Given the description of an element on the screen output the (x, y) to click on. 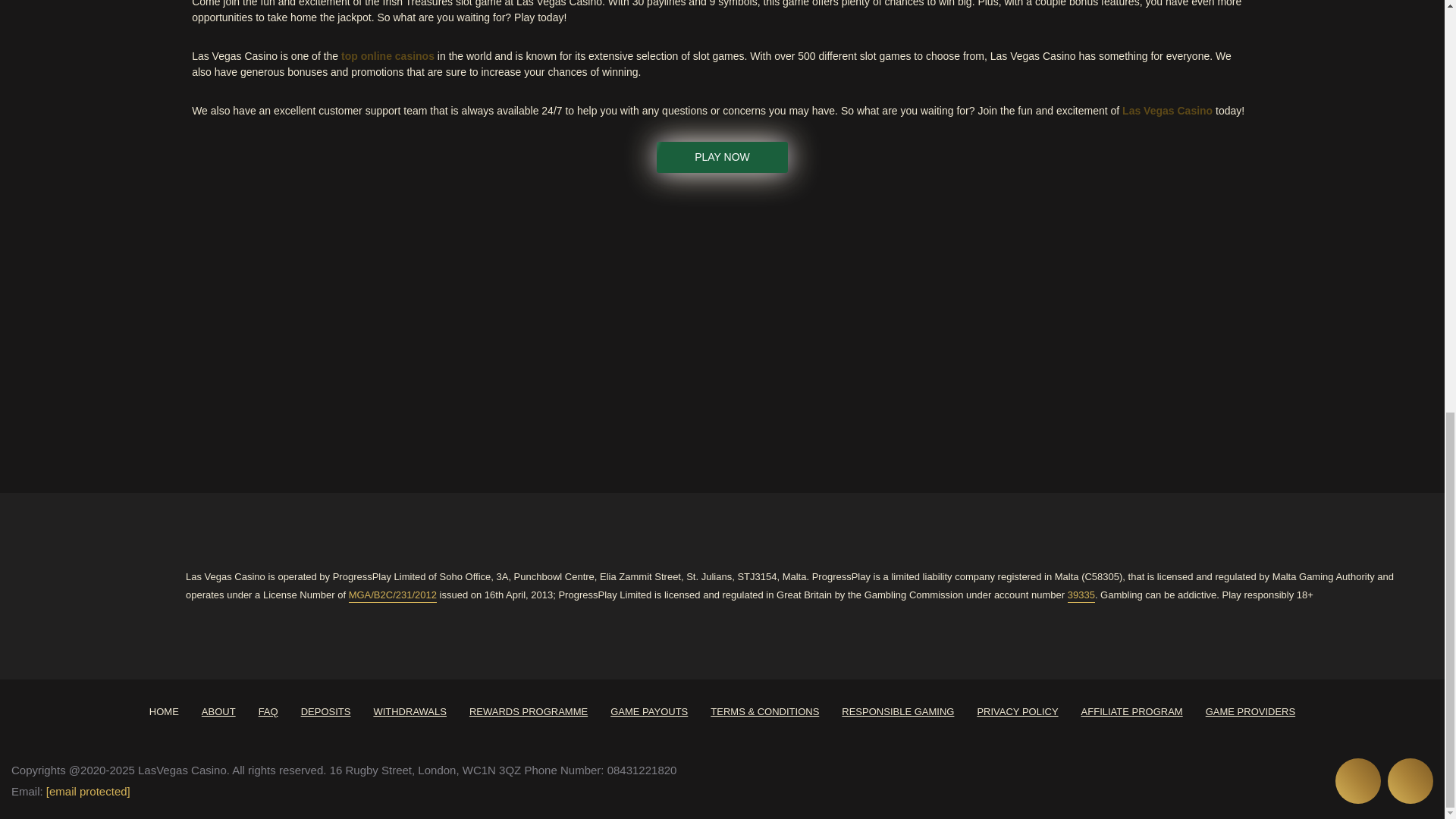
Las Vegas Casino (1167, 110)
client logos (721, 327)
39335 (1080, 595)
PLAY NOW (721, 156)
client logos (850, 327)
client logos (593, 327)
Las Vegas Casino (1167, 110)
client logos (463, 327)
client logos (77, 327)
client logos (205, 327)
